Given the description of an element on the screen output the (x, y) to click on. 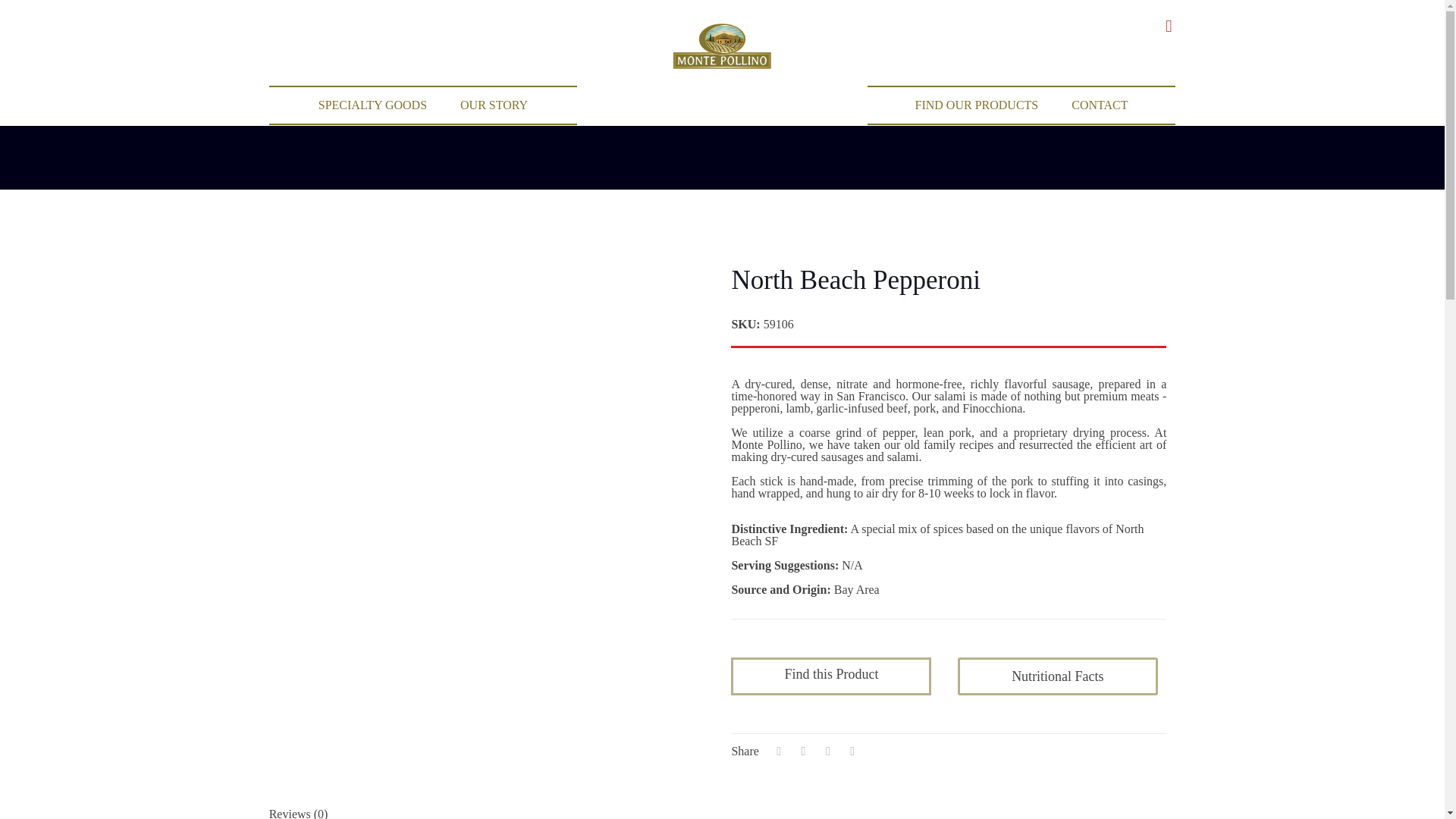
CONTACT (1099, 104)
FIND OUR PRODUCTS (976, 104)
OUR STORY (494, 104)
Monte Pollino (721, 45)
SPECIALTY GOODS (372, 104)
